Given the description of an element on the screen output the (x, y) to click on. 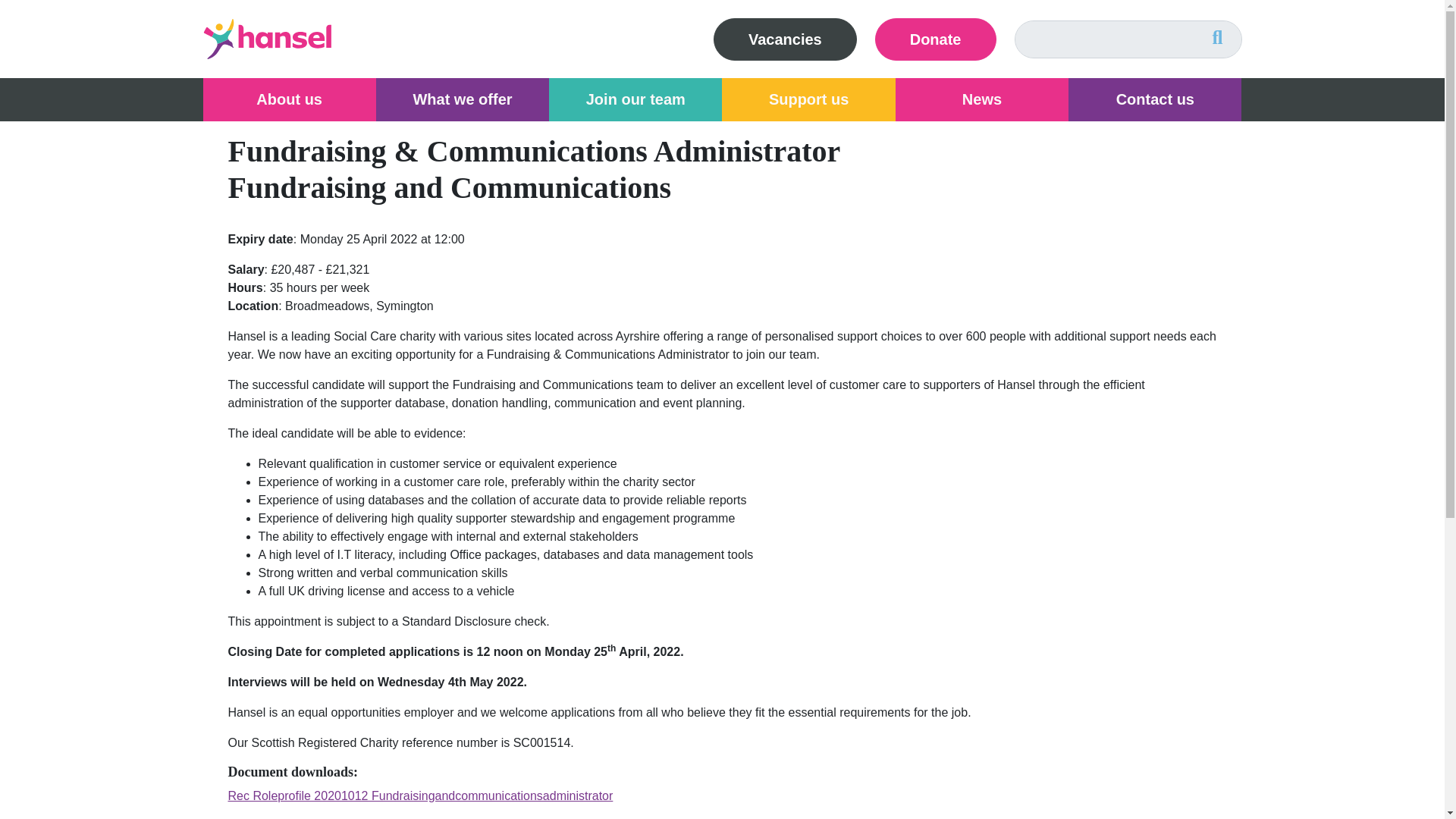
News (981, 99)
Join our team (635, 99)
About us (289, 99)
Donate (935, 39)
Contact us (1154, 99)
Vacancies (785, 39)
Support us (808, 99)
What we offer (461, 99)
